Given the description of an element on the screen output the (x, y) to click on. 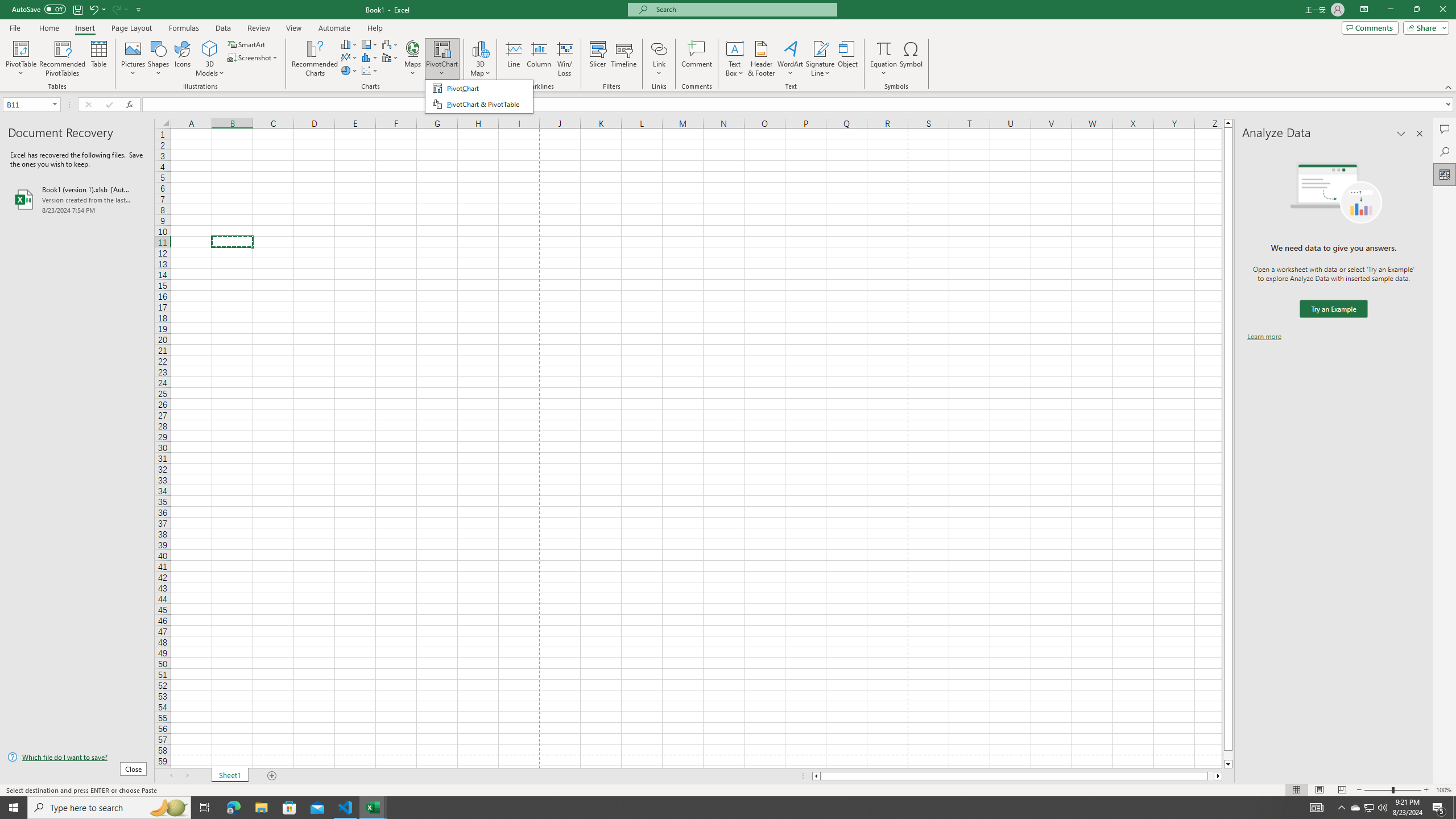
Normal (1296, 790)
We need data to give you answers. Try an Example (1333, 308)
3D Models (210, 58)
Start (13, 807)
Win/Loss (564, 58)
Ribbon Display Options (1364, 9)
Recommended Charts (315, 58)
Link (659, 58)
Action Center, 5 new notifications (1439, 807)
Close (1442, 9)
Equation (883, 58)
Timeline (623, 58)
View (293, 28)
